Given the description of an element on the screen output the (x, y) to click on. 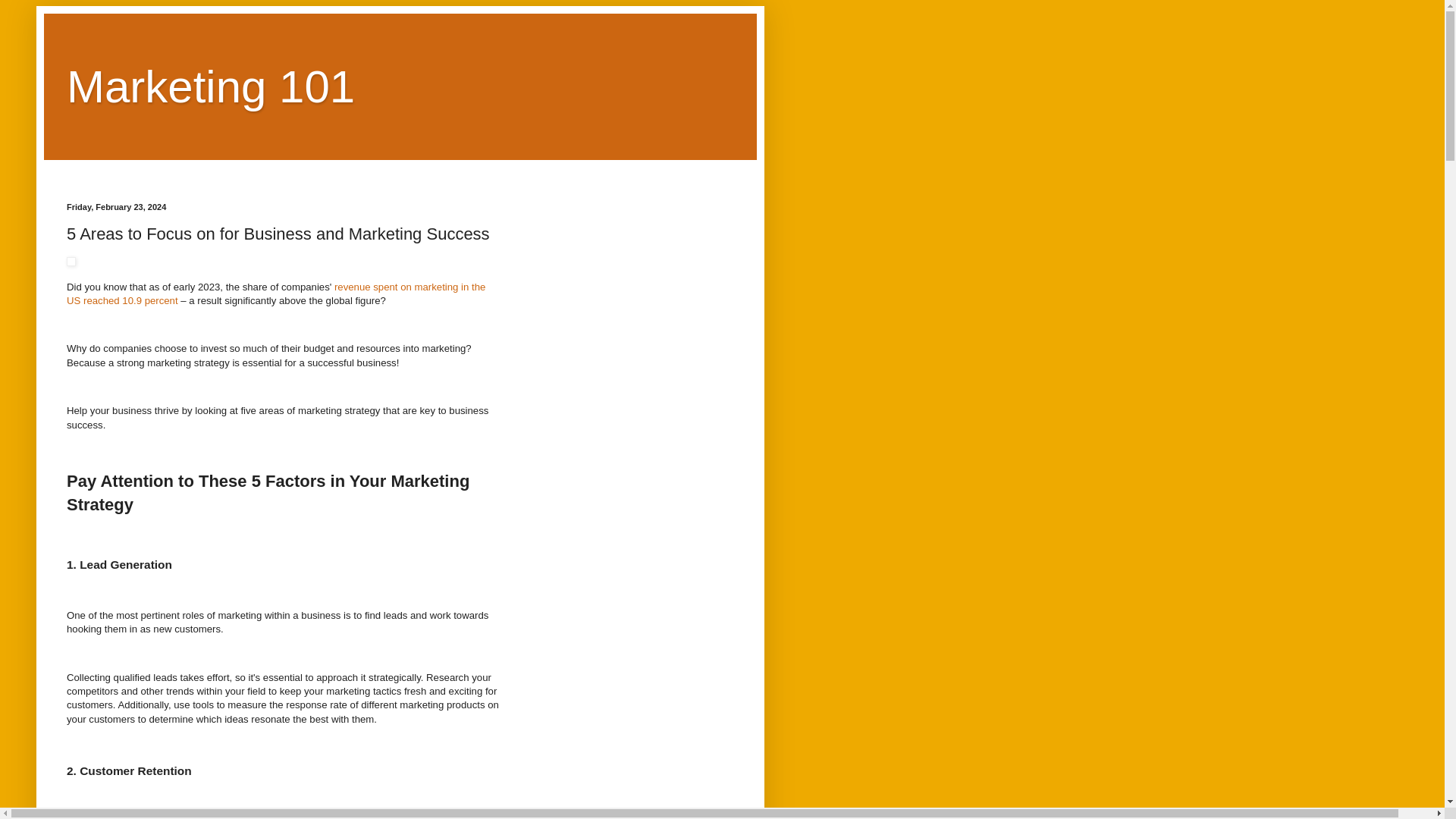
revenue spent on marketing in the US reached 10.9 percent (275, 293)
Marketing 101 (210, 86)
